Given the description of an element on the screen output the (x, y) to click on. 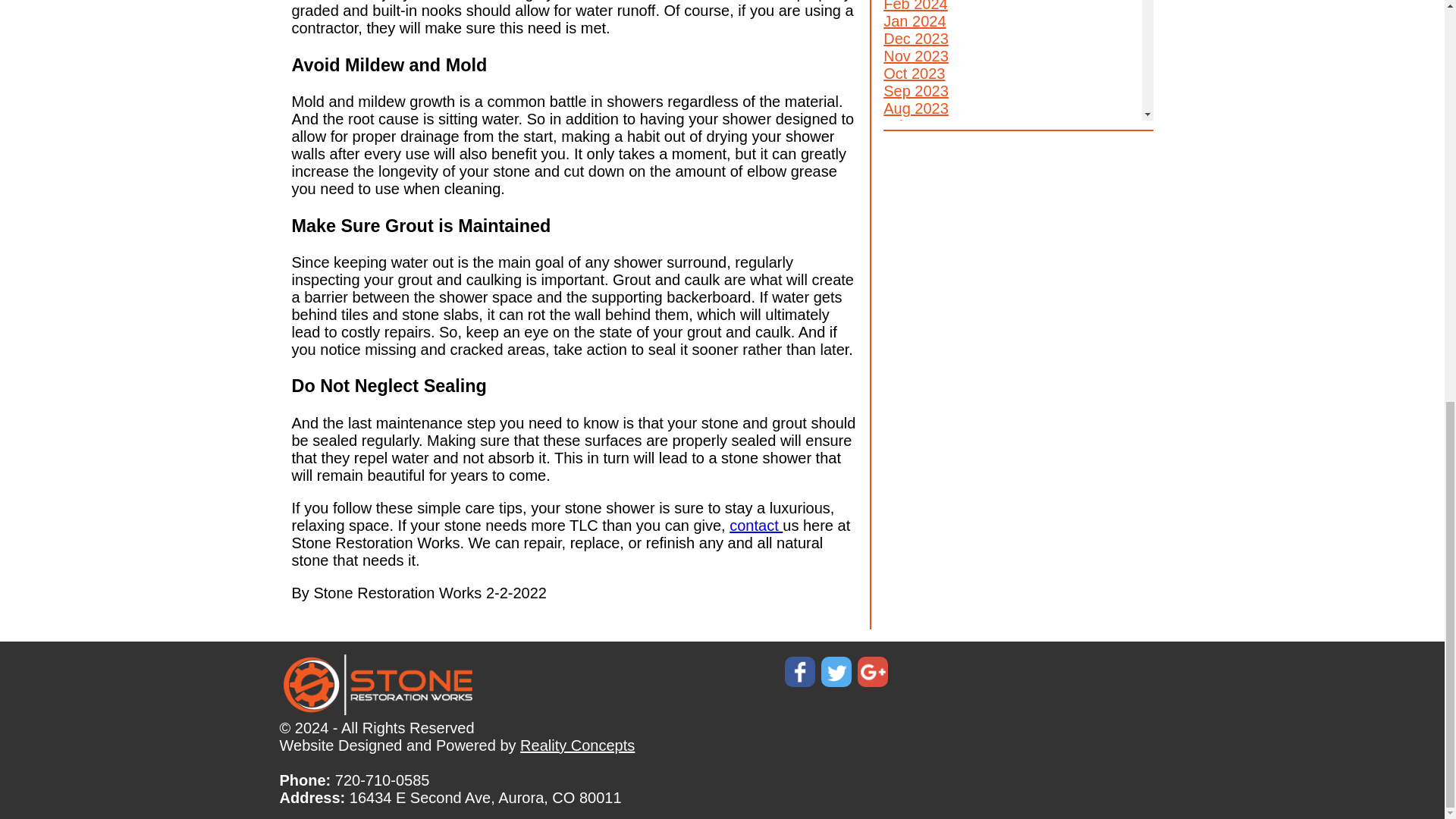
contact (756, 524)
